Given the description of an element on the screen output the (x, y) to click on. 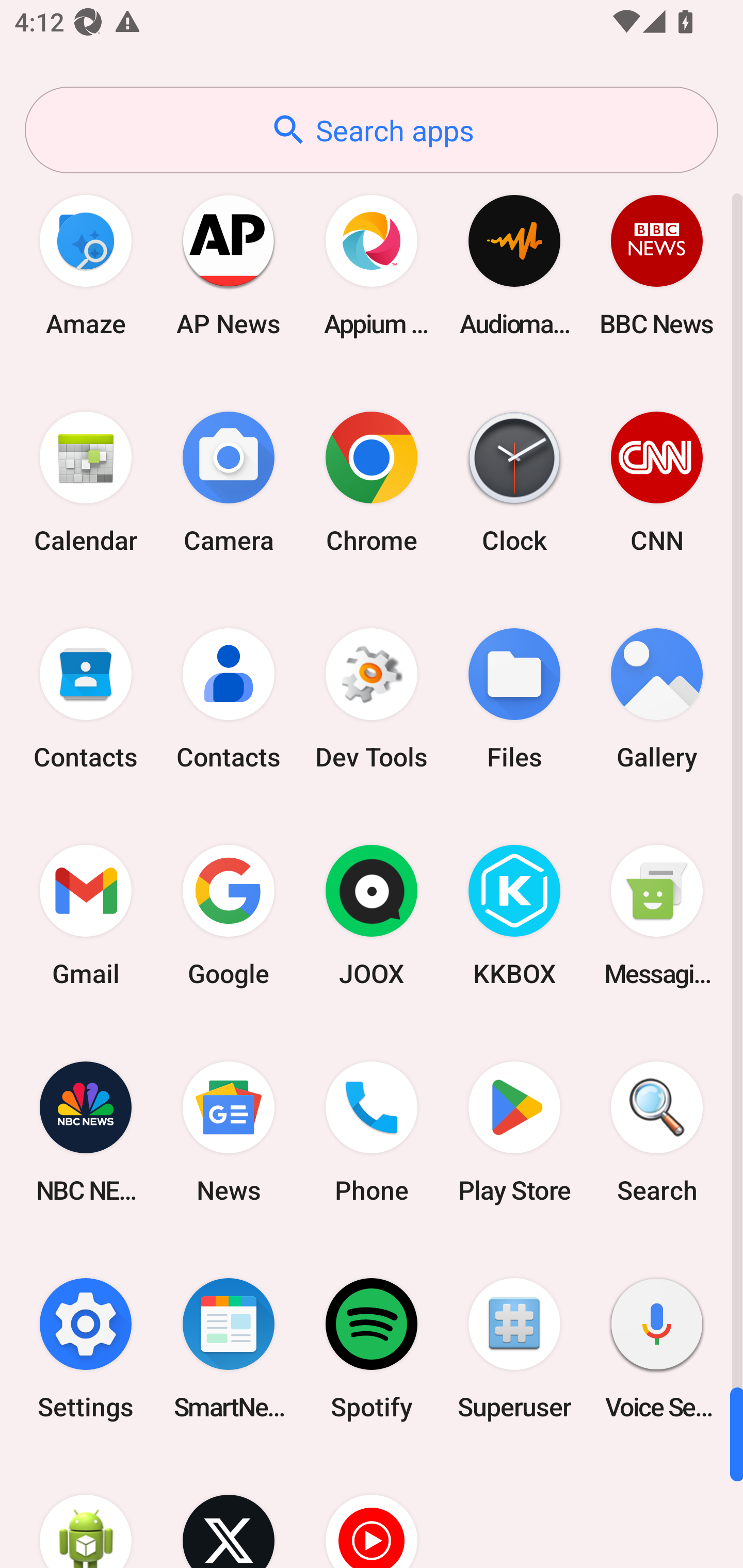
  Search apps (371, 130)
Amaze (85, 264)
AP News (228, 264)
Appium Settings (371, 264)
Audio­mack (514, 264)
BBC News (656, 264)
Calendar (85, 482)
Camera (228, 482)
Chrome (371, 482)
Clock (514, 482)
CNN (656, 482)
Contacts (85, 699)
Contacts (228, 699)
Dev Tools (371, 699)
Files (514, 699)
Gallery (656, 699)
Gmail (85, 915)
Google (228, 915)
JOOX (371, 915)
KKBOX (514, 915)
Messaging (656, 915)
NBC NEWS (85, 1131)
News (228, 1131)
Phone (371, 1131)
Play Store (514, 1131)
Search (656, 1131)
Settings (85, 1348)
SmartNews (228, 1348)
Spotify (371, 1348)
Superuser (514, 1348)
Voice Search (656, 1348)
WebView Browser Tester (85, 1512)
X (228, 1512)
YT Music (371, 1512)
